Given the description of an element on the screen output the (x, y) to click on. 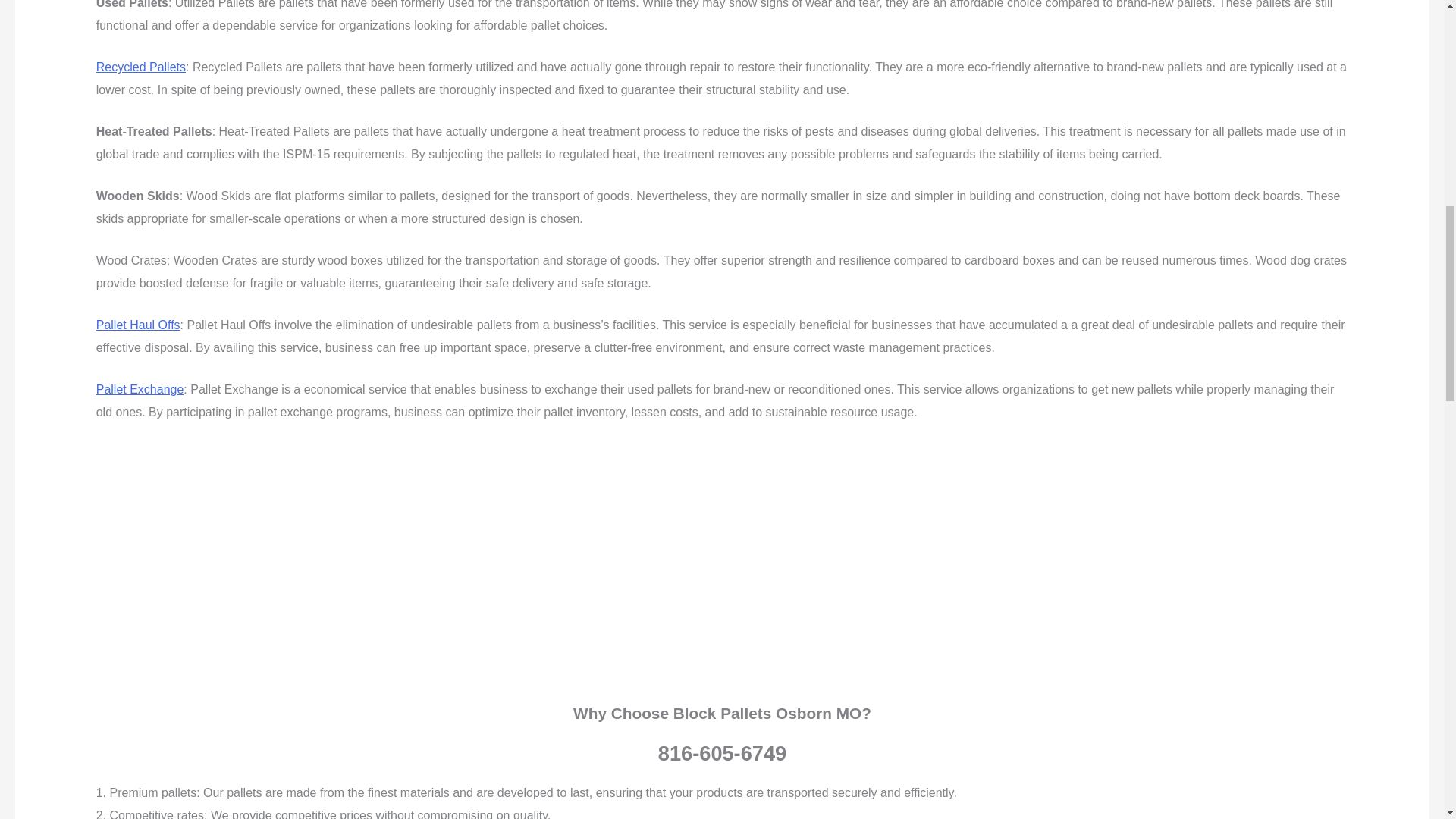
Pallet Exchange (140, 389)
Pallet Haul Offs (138, 324)
Recycled Pallets (141, 66)
